Given the description of an element on the screen output the (x, y) to click on. 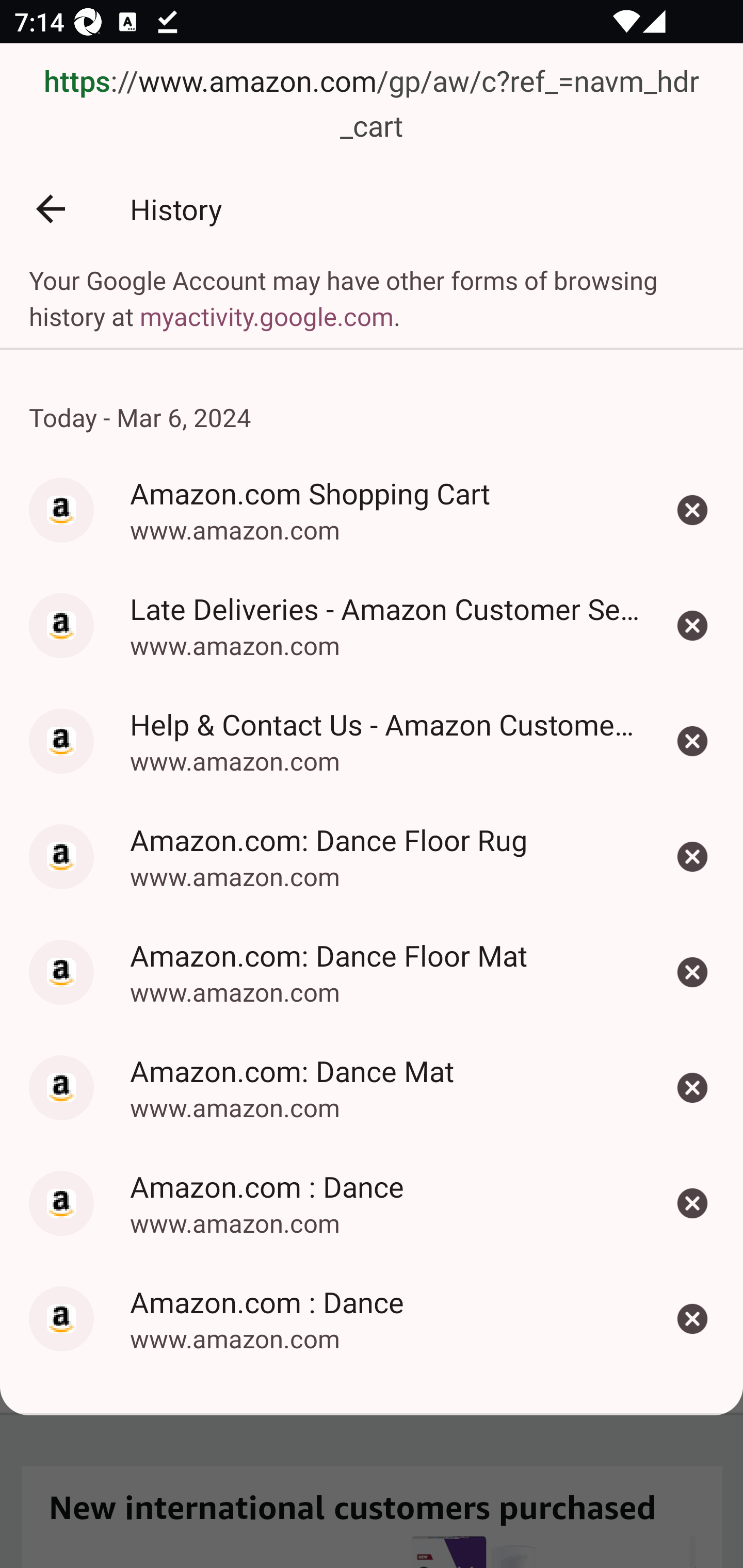
https://www.amazon.com/gp/aw/c?ref_=navm_hdr_cart (371, 104)
Back (50, 209)
Amazon.com Shopping Cart Remove (692, 509)
Late Deliveries - Amazon Customer Service Remove (692, 625)
Help & Contact Us - Amazon Customer Service Remove (692, 741)
Amazon.com: Dance Floor Rug Remove (692, 856)
Amazon.com: Dance Floor Mat Remove (692, 972)
Amazon.com: Dance Mat Remove (692, 1088)
Amazon.com : Dance Remove (692, 1203)
Amazon.com : Dance Remove (692, 1318)
